Given the description of an element on the screen output the (x, y) to click on. 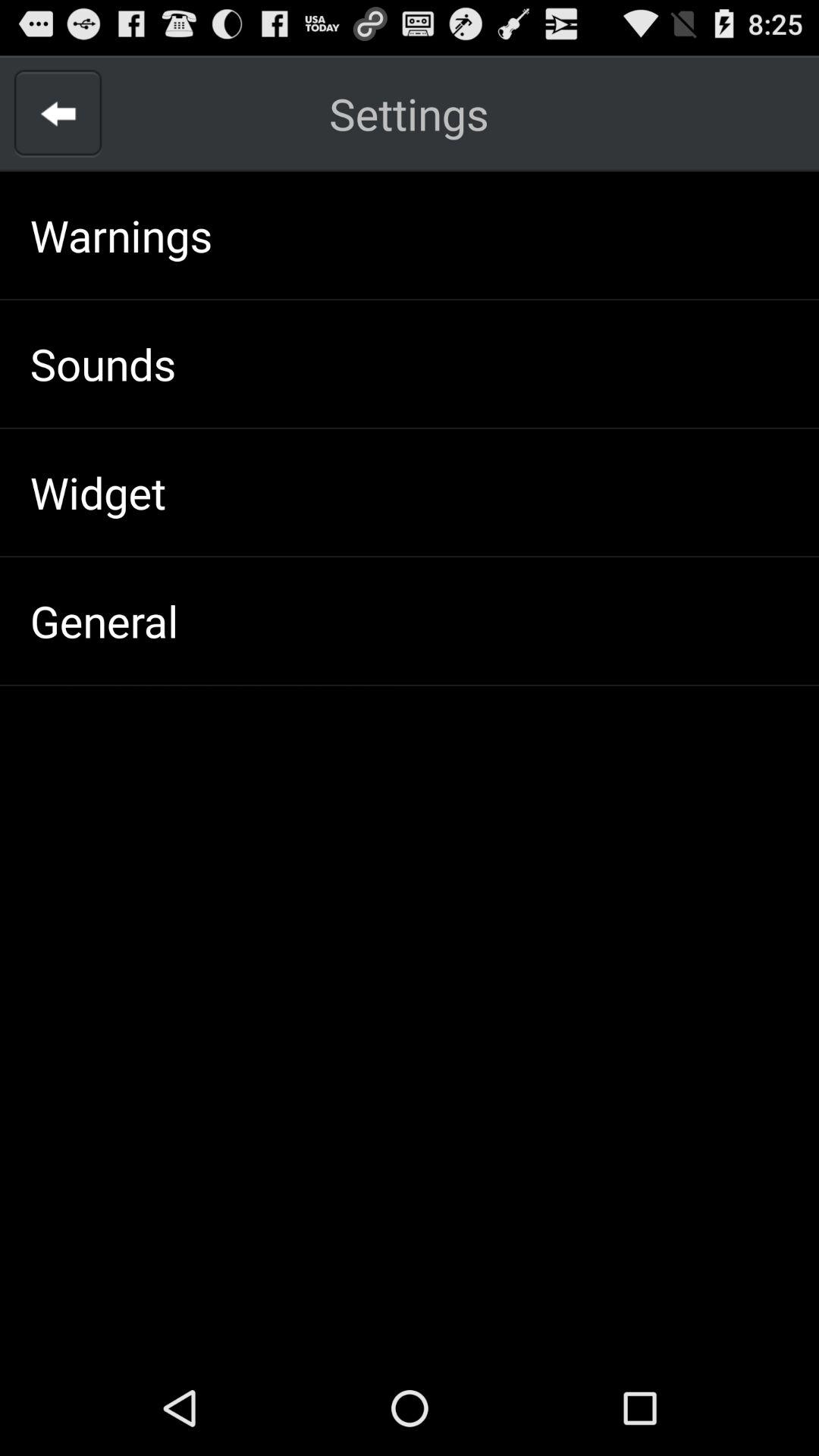
choose general item (104, 620)
